Given the description of an element on the screen output the (x, y) to click on. 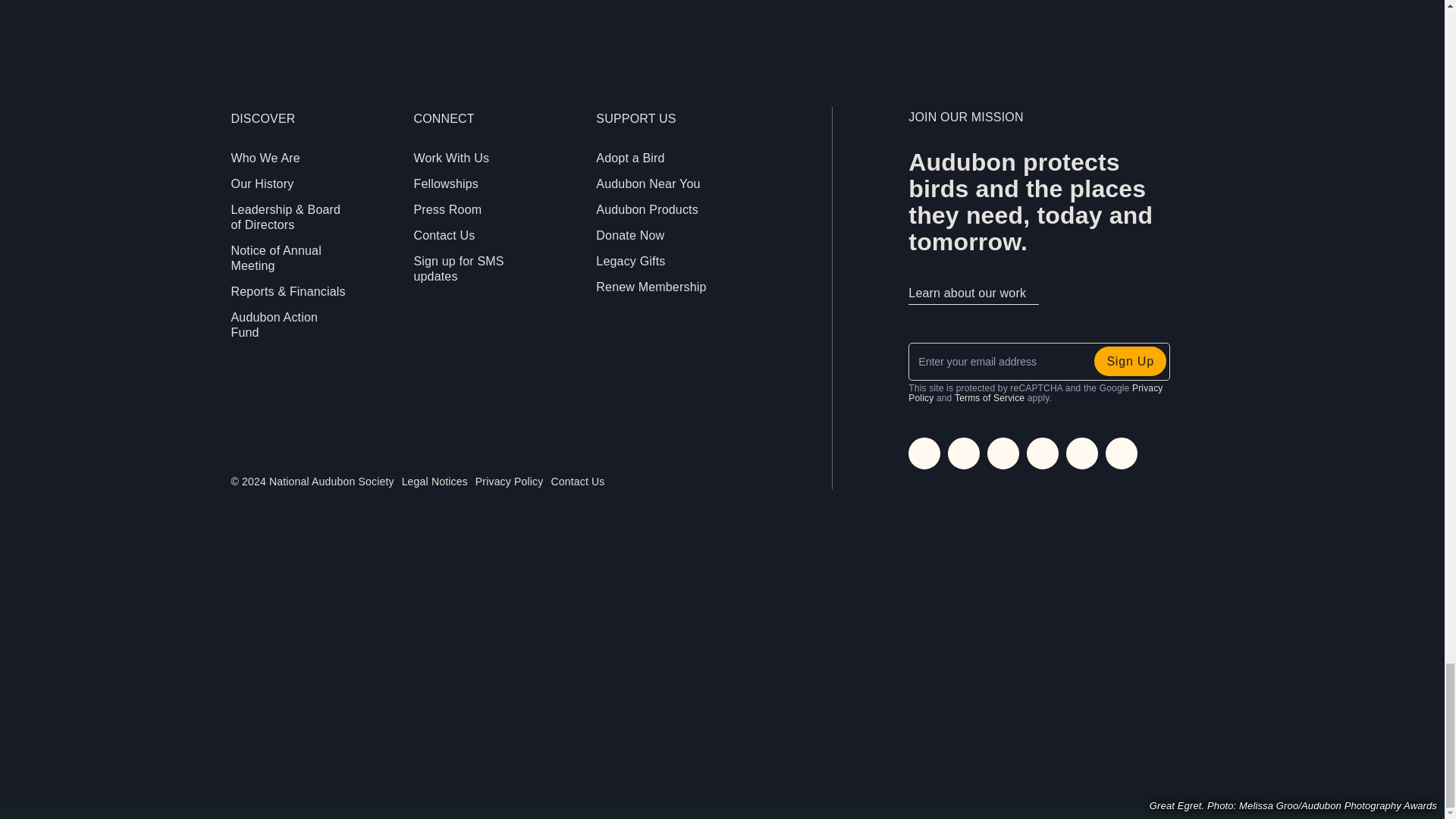
Audubon on LinkedIn (1042, 453)
Audubon on Twitter (1003, 453)
Audubon on Instagram (924, 453)
Audubon on Facebook (963, 453)
Sign Up (1130, 360)
Audubon on Pinterest (1121, 453)
Audubon on Tiktok (1081, 453)
